Given the description of an element on the screen output the (x, y) to click on. 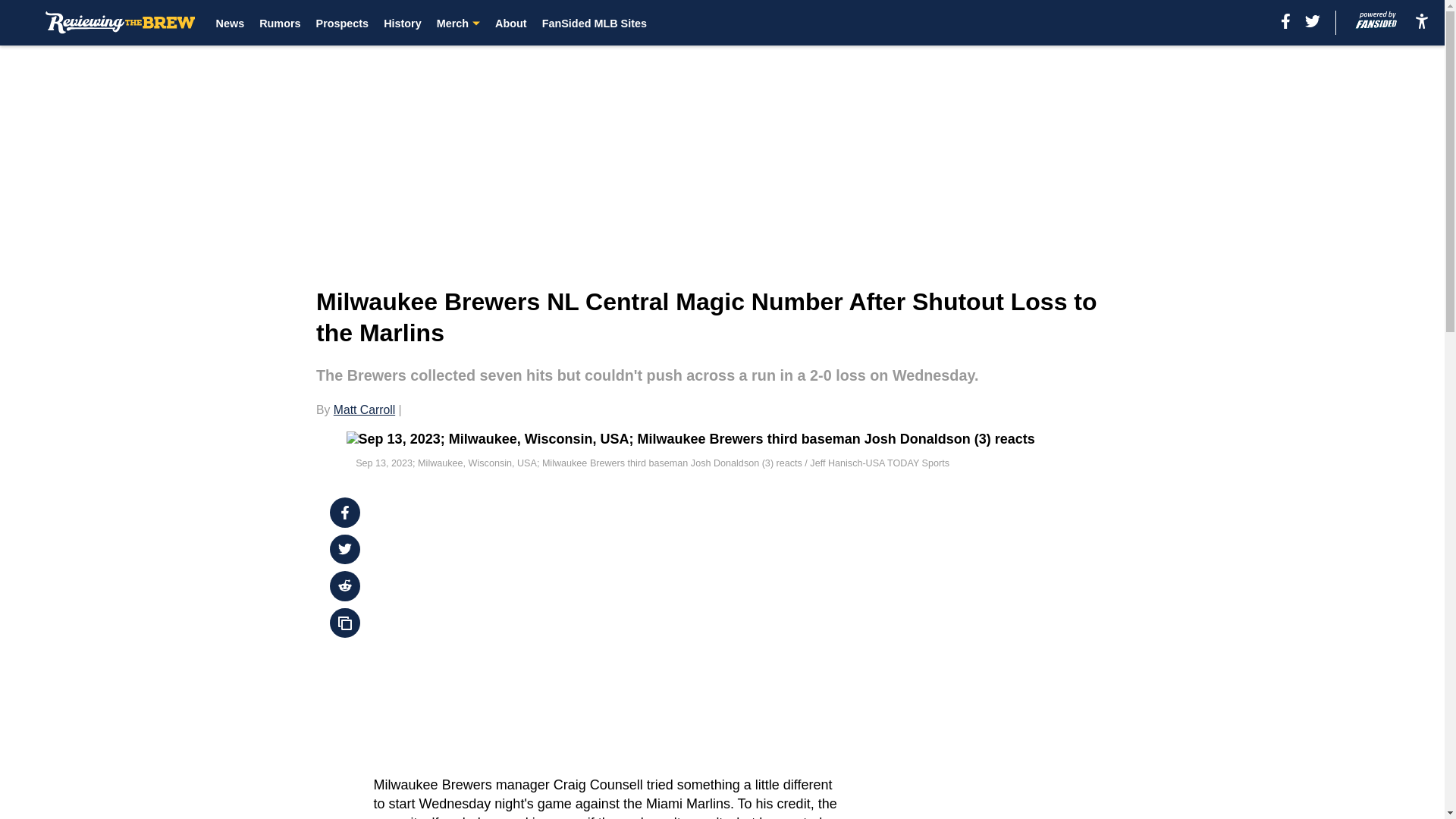
FanSided MLB Sites (593, 23)
Rumors (279, 23)
Matt Carroll (363, 409)
About (511, 23)
Prospects (342, 23)
History (403, 23)
News (229, 23)
